Given the description of an element on the screen output the (x, y) to click on. 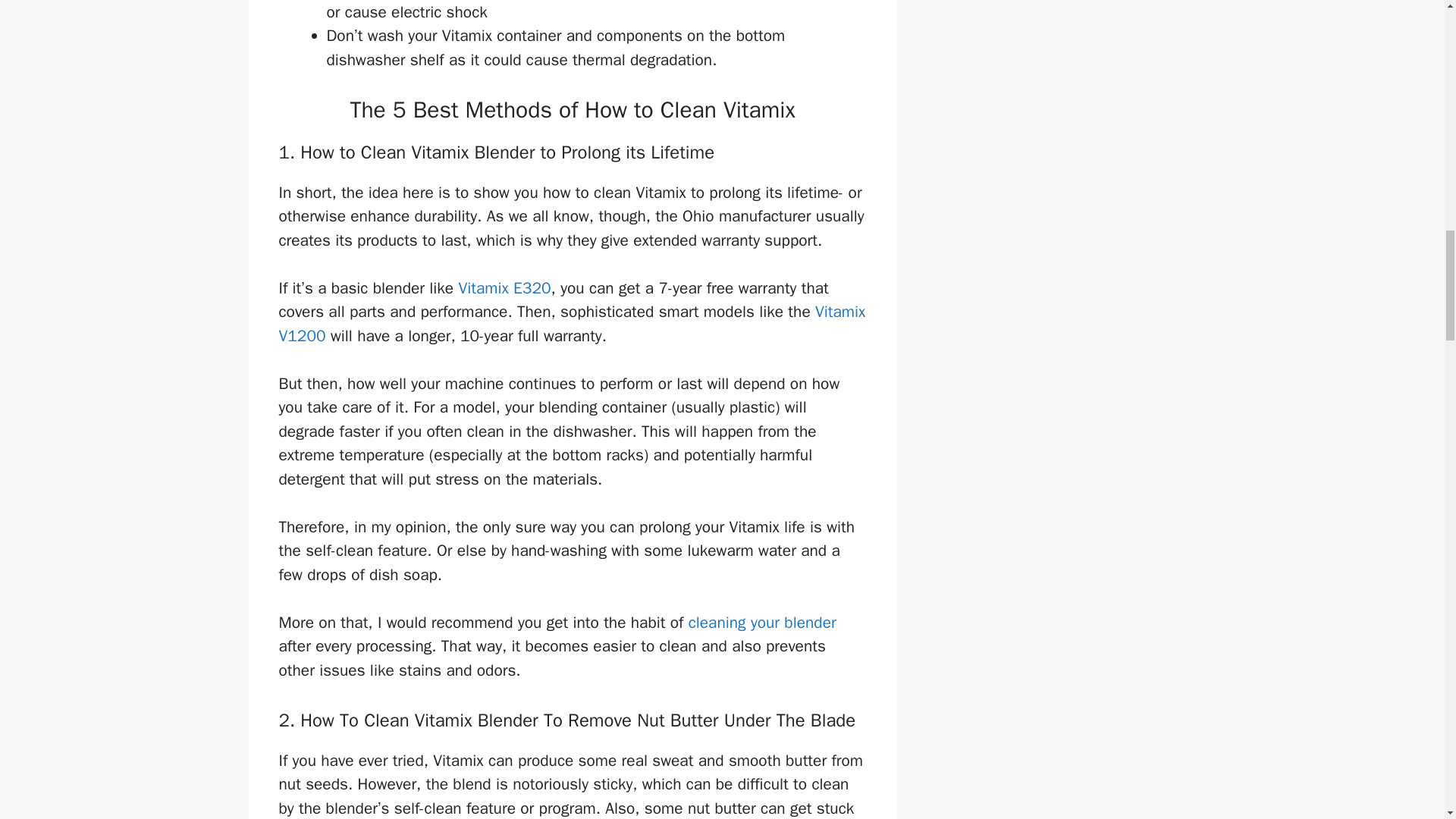
cleaning your blender (761, 622)
Vitamix V1200 (572, 323)
Vitamix E320 (504, 288)
